Given the description of an element on the screen output the (x, y) to click on. 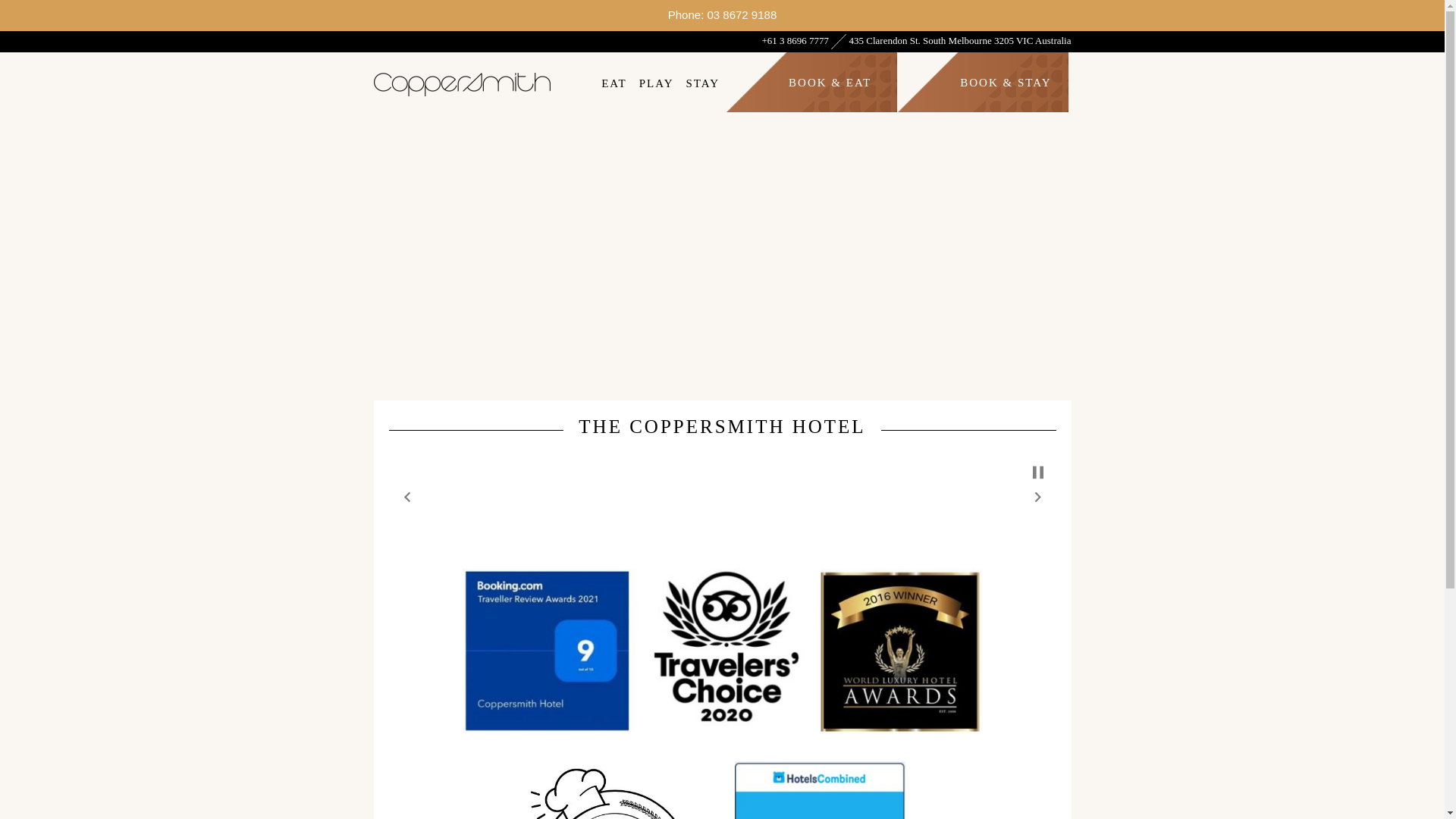
STAY Element type: text (702, 77)
BOOK & STAY Element type: text (1002, 76)
PLAY Element type: text (656, 77)
EAT Element type: text (614, 77)
BOOK & EAT Element type: text (829, 76)
